Given the description of an element on the screen output the (x, y) to click on. 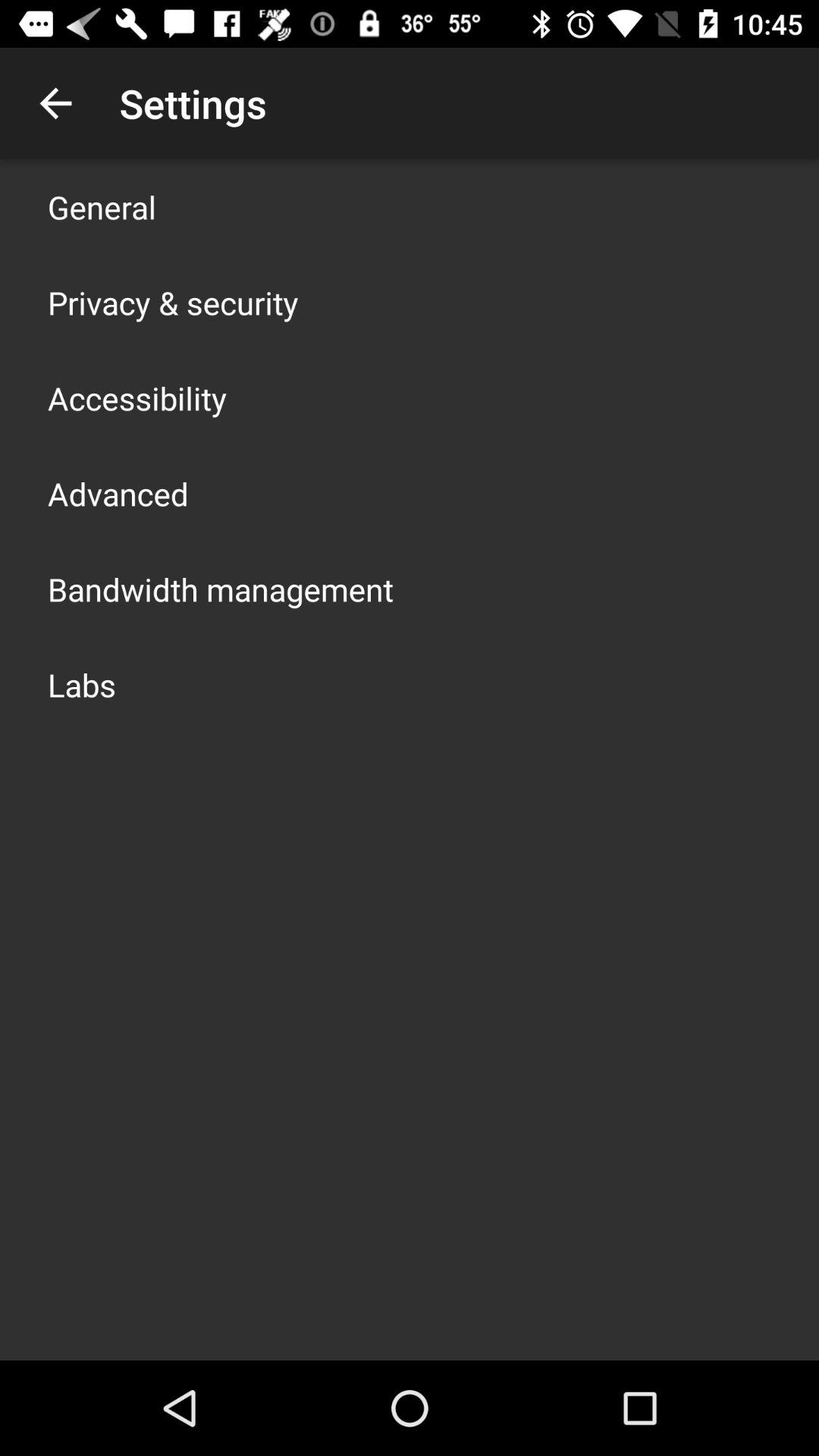
select app below the accessibility (117, 493)
